Given the description of an element on the screen output the (x, y) to click on. 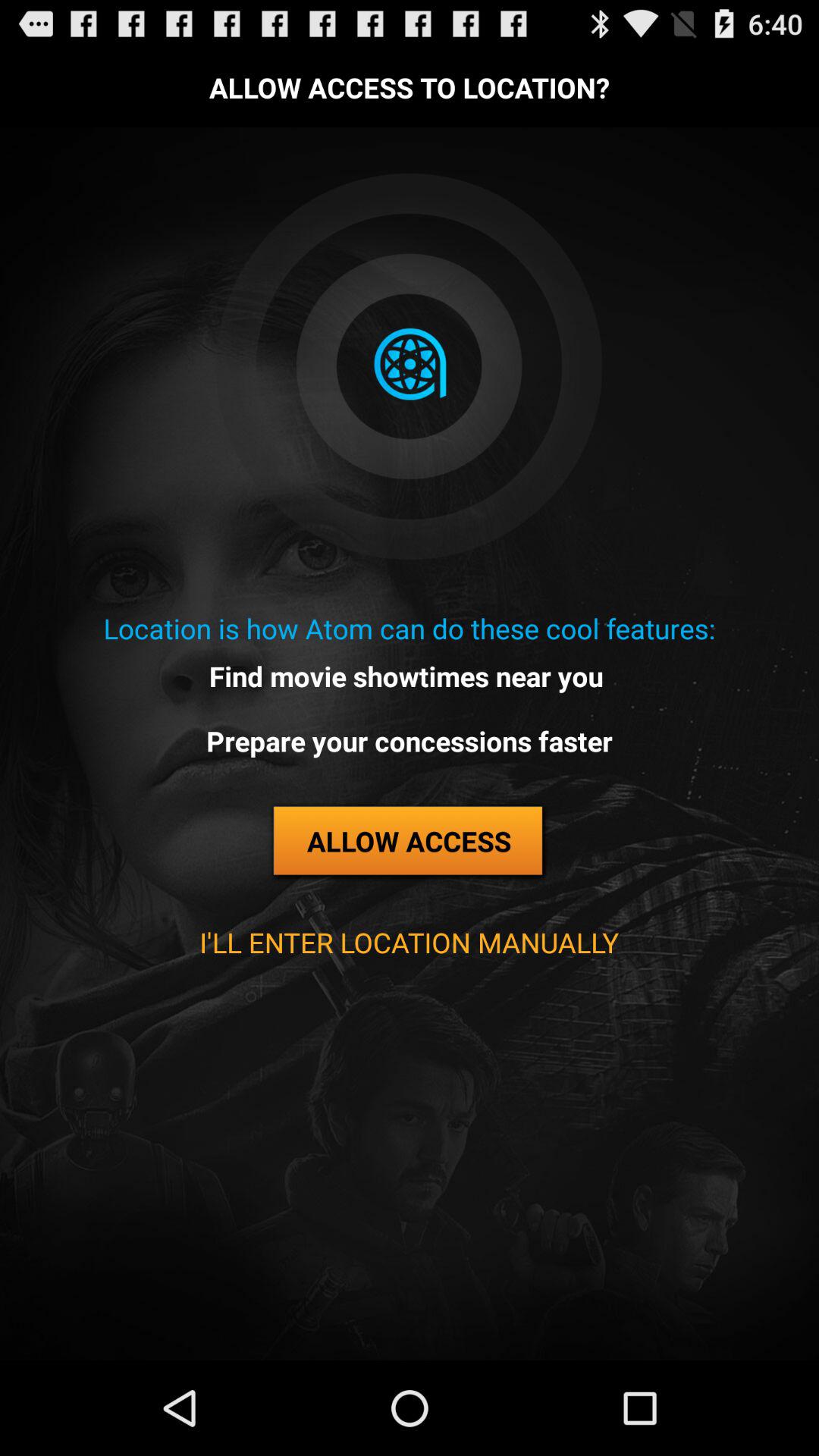
open button below the allow access (408, 942)
